Given the description of an element on the screen output the (x, y) to click on. 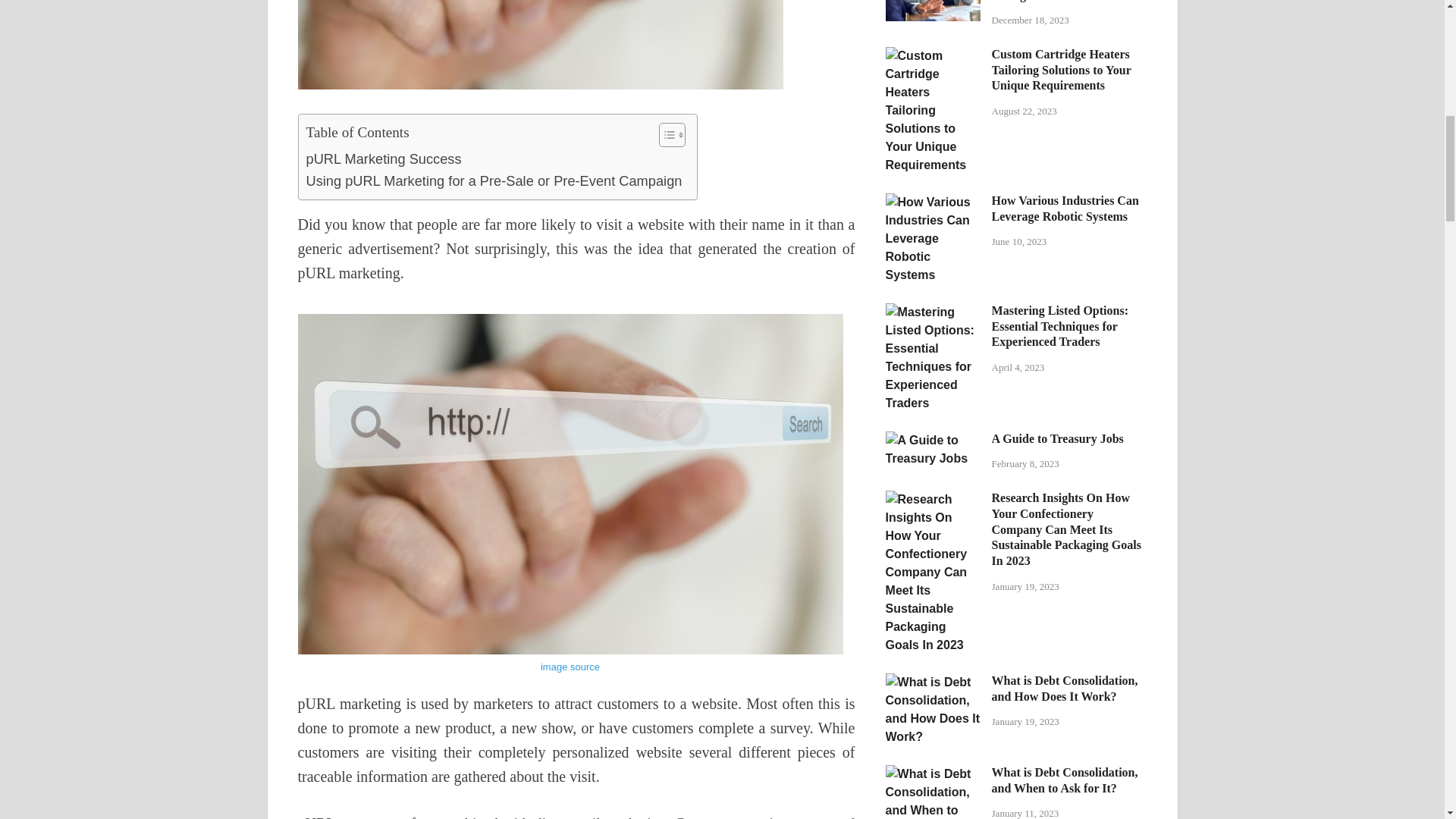
How Various Industries Can Leverage Robotic Systems (932, 201)
pURL Marketing Success (383, 158)
Using pURL Marketing for a Pre-Sale or Pre-Event Campaign (493, 180)
